Given the description of an element on the screen output the (x, y) to click on. 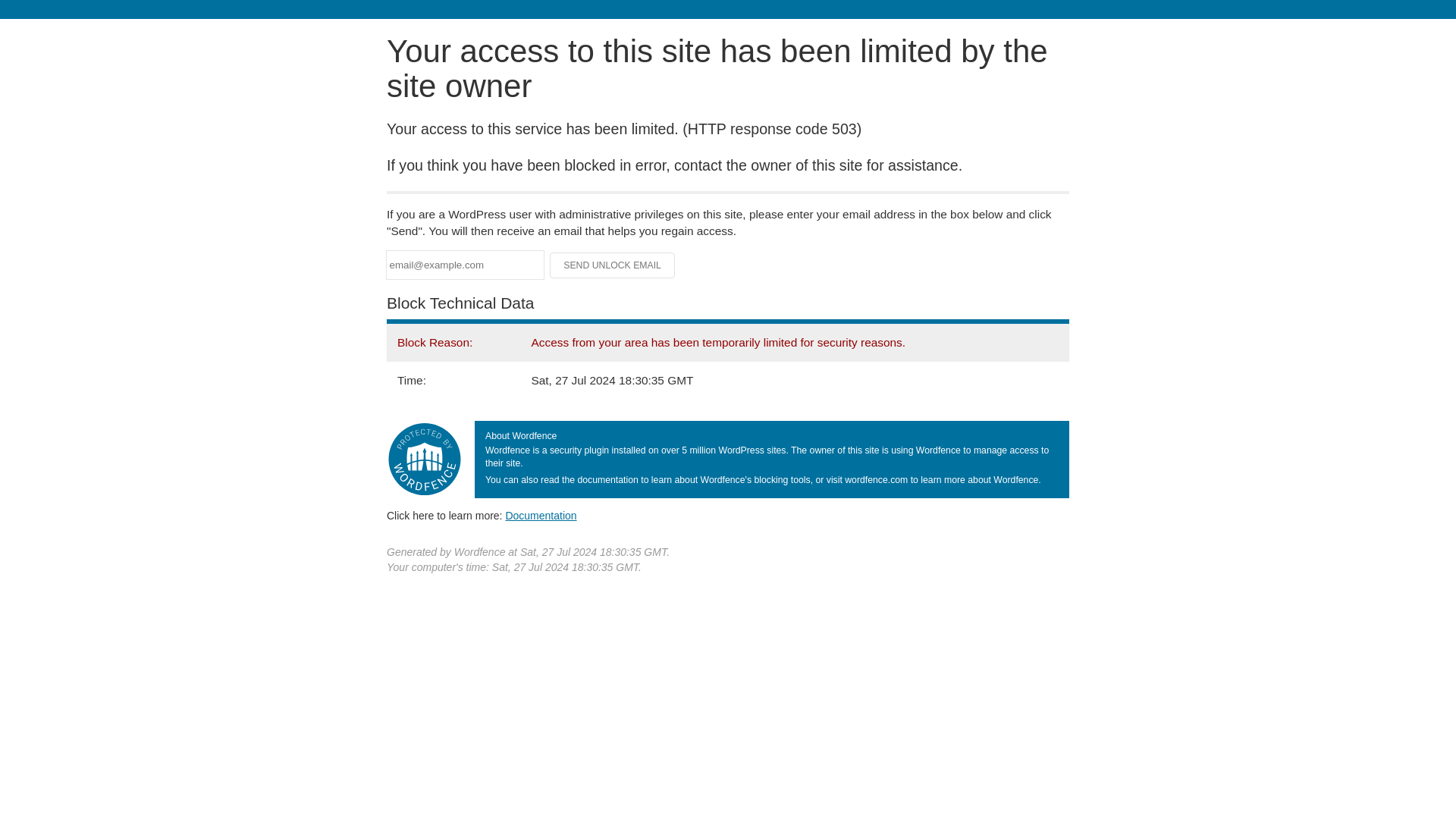
Send Unlock Email (612, 265)
Documentation (540, 515)
Send Unlock Email (612, 265)
